Given the description of an element on the screen output the (x, y) to click on. 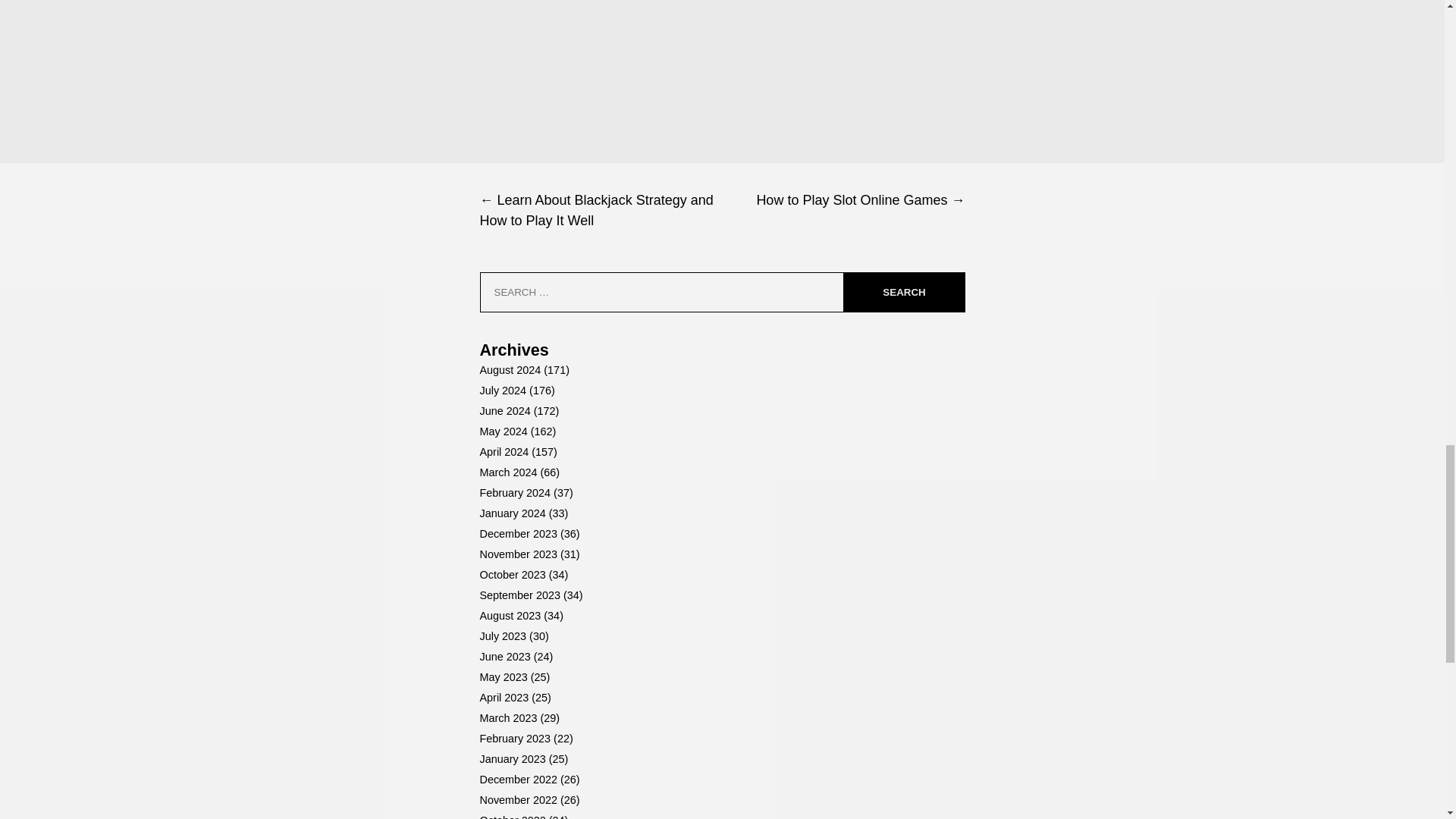
Search (903, 291)
April 2024 (503, 451)
Search (903, 291)
Search (903, 291)
March 2023 (508, 717)
August 2023 (509, 615)
October 2023 (511, 574)
February 2023 (514, 738)
June 2024 (504, 410)
November 2023 (517, 553)
